Given the description of an element on the screen output the (x, y) to click on. 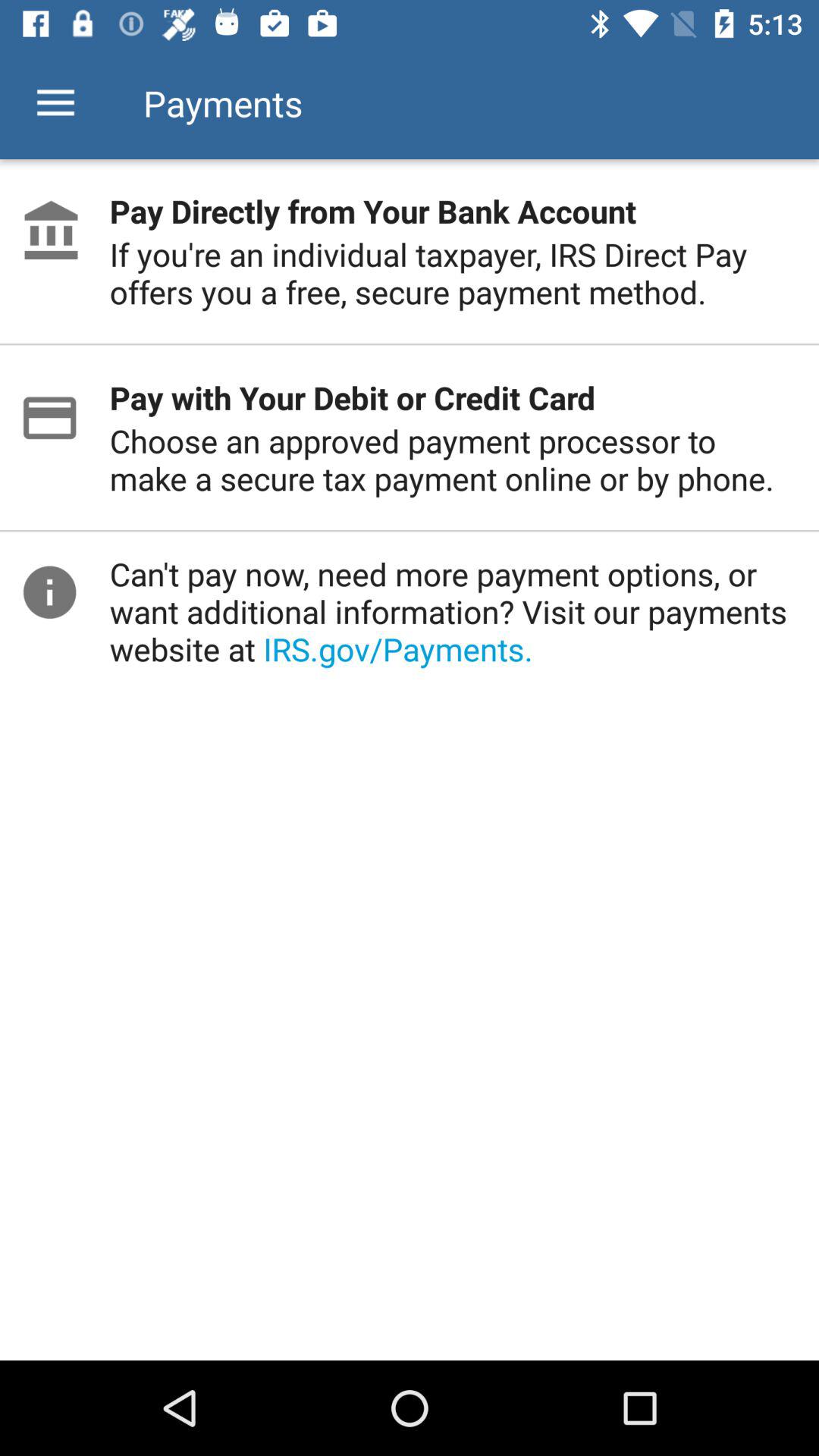
tap item to the left of the payments item (55, 103)
